Given the description of an element on the screen output the (x, y) to click on. 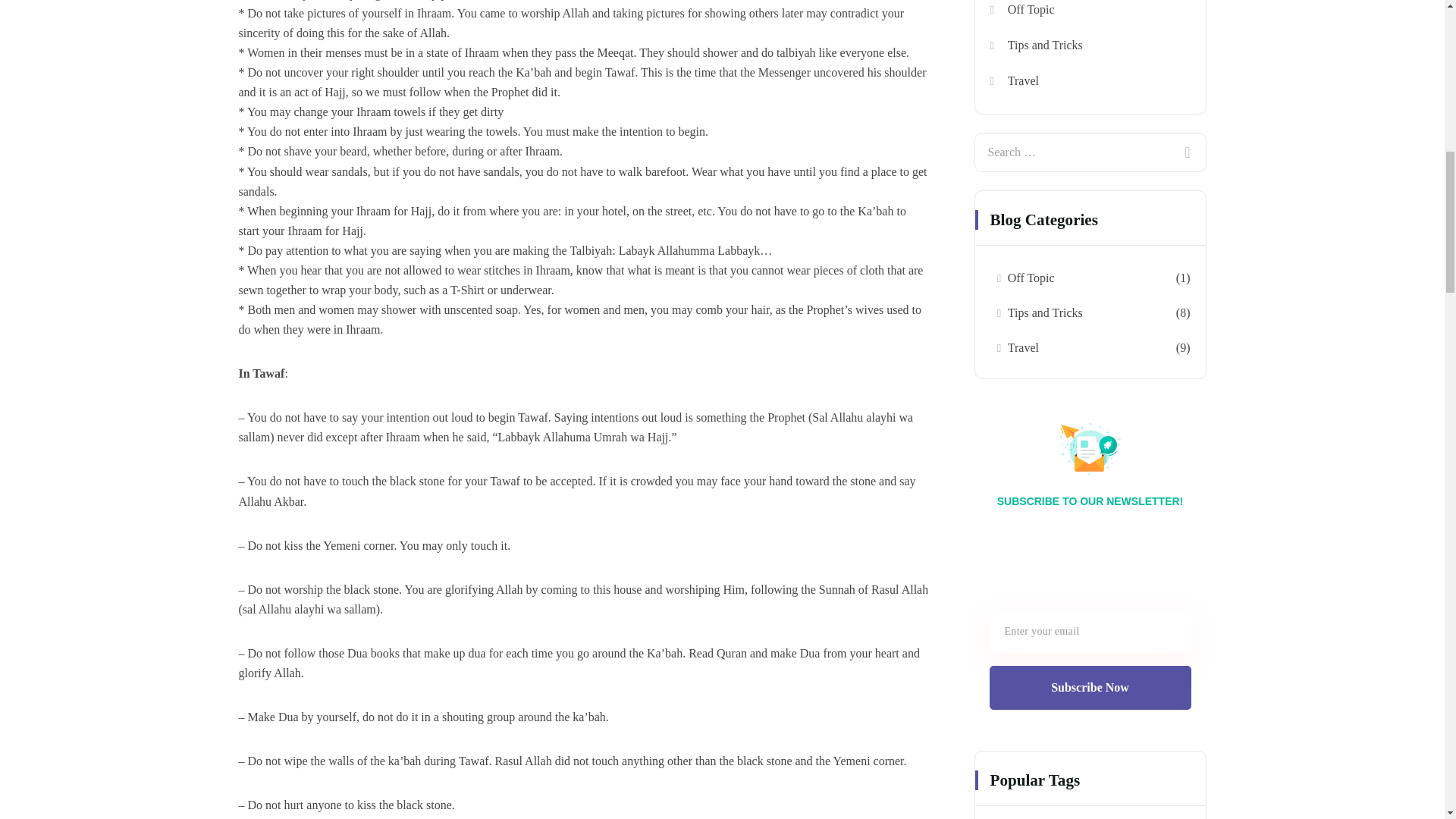
Tips and Tricks (1045, 44)
Tips and Tricks (1045, 313)
Travel (1023, 80)
Search (1186, 142)
Off Topic (1030, 9)
Search (1186, 142)
Travel (1023, 347)
Off Topic (1030, 277)
Search (1186, 142)
Subscribe Now (1089, 687)
